Given the description of an element on the screen output the (x, y) to click on. 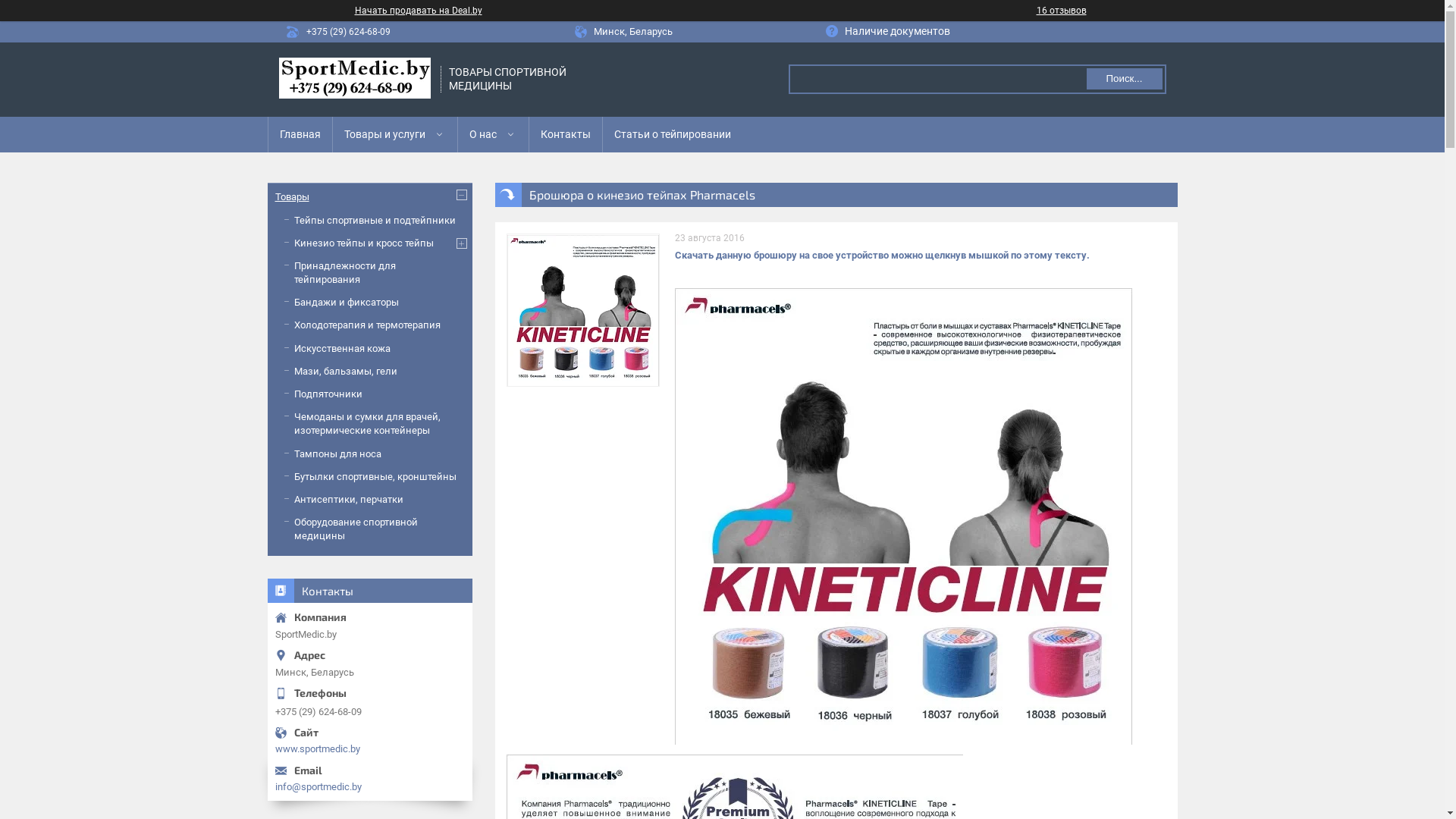
info@sportmedic.by Element type: text (369, 787)
www.sportmedic.by Element type: text (369, 749)
SportMedic.by Element type: hover (354, 79)
